Given the description of an element on the screen output the (x, y) to click on. 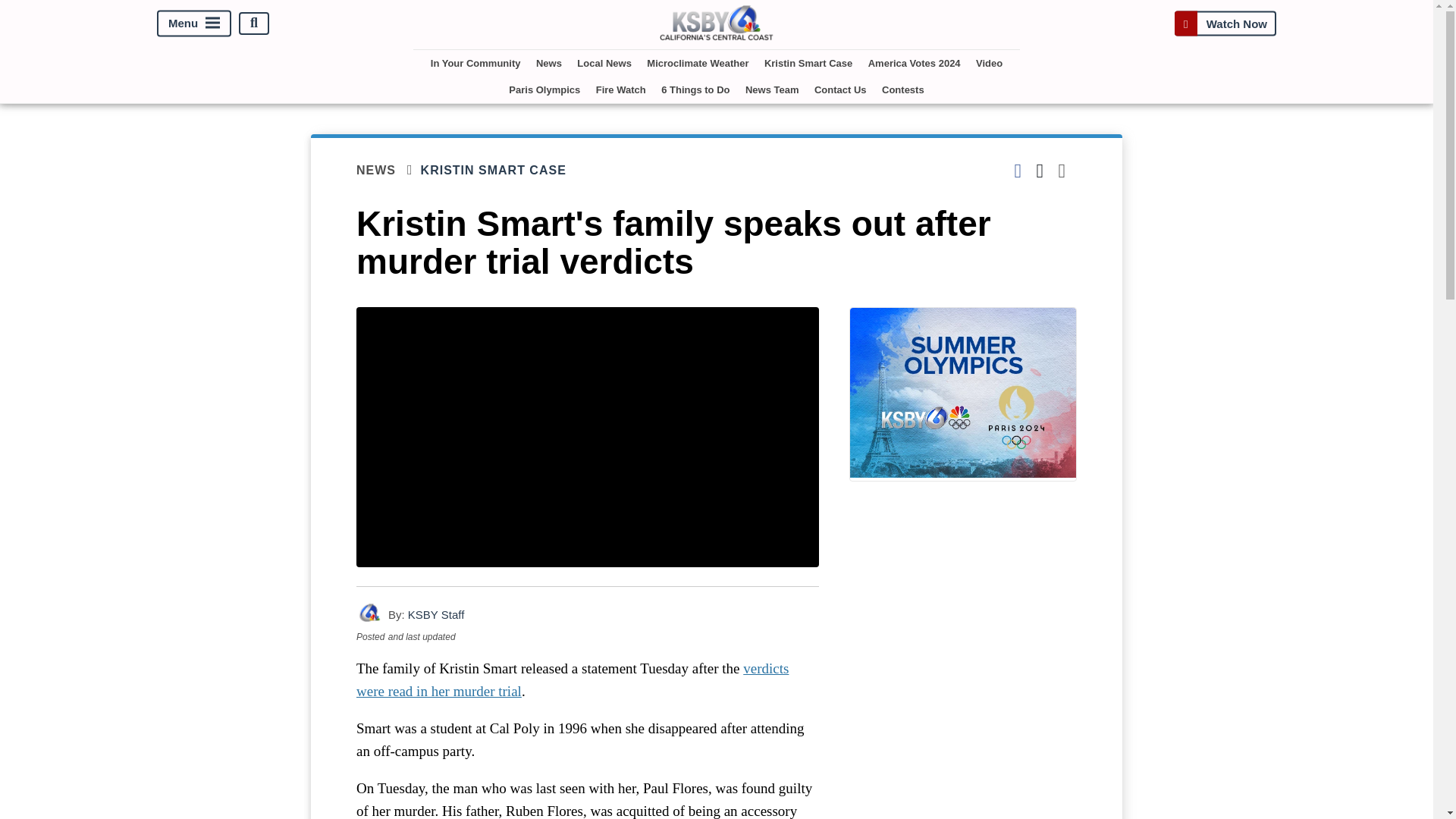
Watch Now (1224, 22)
Menu (194, 22)
